Given the description of an element on the screen output the (x, y) to click on. 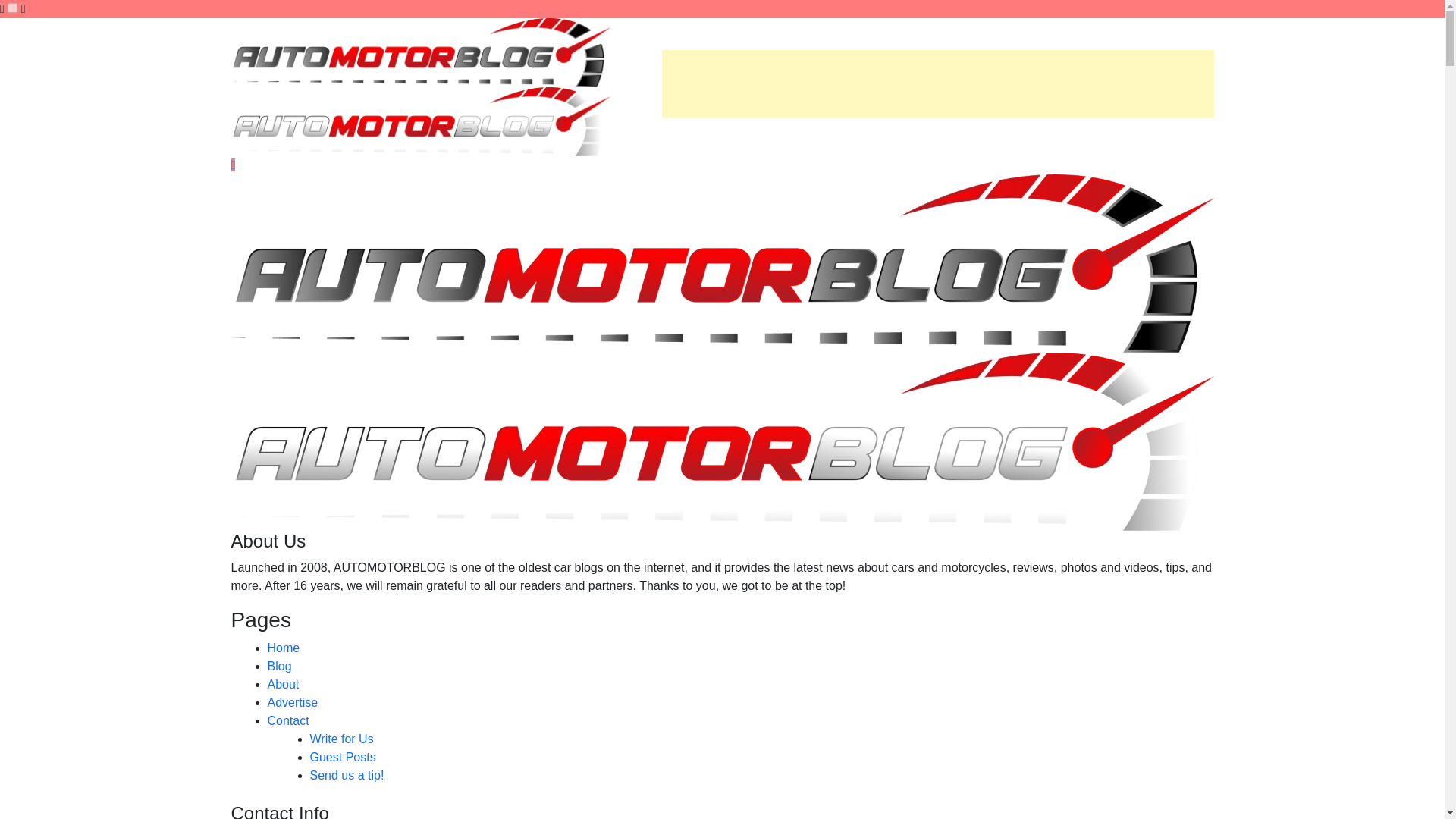
Contact (287, 720)
About (282, 684)
Send us a tip! (346, 775)
on (12, 8)
Write for Us (340, 738)
Advertise (291, 702)
Home (282, 647)
Guest Posts (341, 757)
Blog (278, 666)
